Given the description of an element on the screen output the (x, y) to click on. 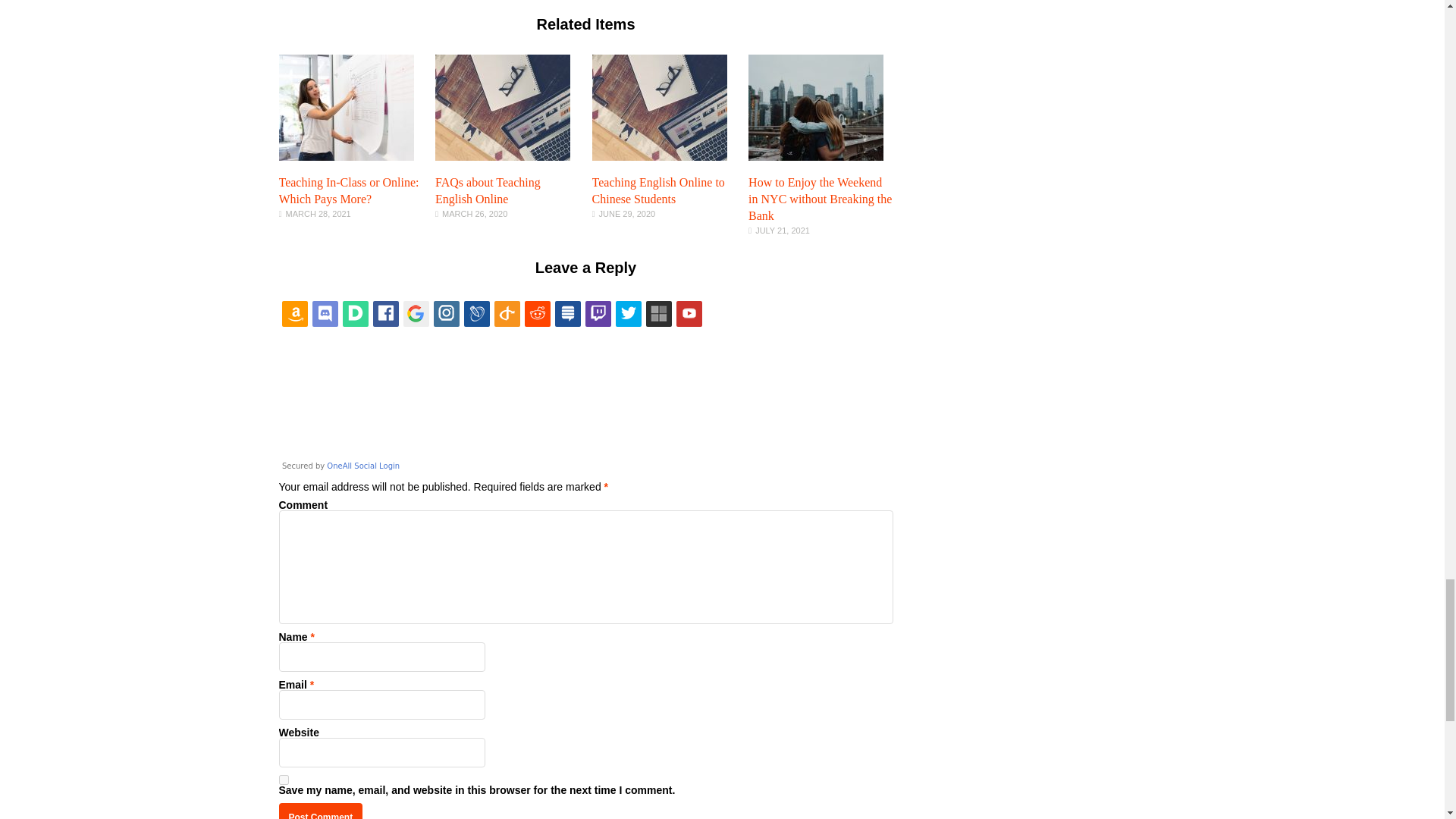
FAQs about Teaching English Online (487, 190)
Teaching English Online to Chinese Students (659, 156)
FAQs about Teaching English Online (502, 156)
FAQs about Teaching English Online (487, 190)
Post Comment (320, 811)
Teaching English Online to Chinese Students (658, 190)
Teaching In-Class or Online: Which Pays More? (349, 190)
How to Enjoy the Weekend in NYC without Breaking the Bank (815, 156)
yes (283, 779)
Teaching In-Class or Online: Which Pays More? (346, 156)
Post Comment (320, 811)
Teaching English Online to Chinese Students (658, 190)
Teaching In-Class or Online: Which Pays More? (349, 190)
How to Enjoy the Weekend in NYC without Breaking the Bank (819, 198)
How to Enjoy the Weekend in NYC without Breaking the Bank (819, 198)
